Given the description of an element on the screen output the (x, y) to click on. 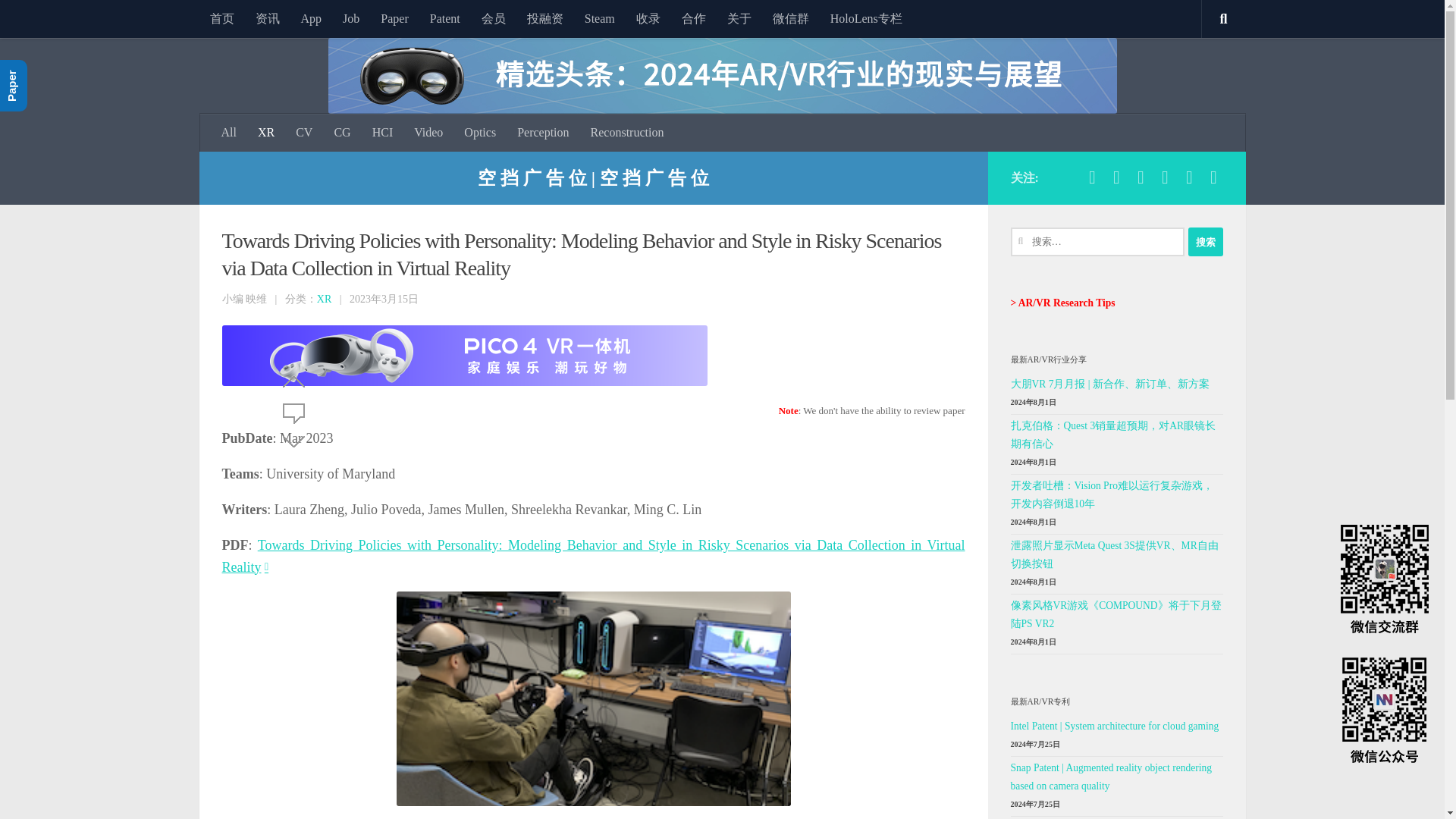
App (310, 18)
Perception (542, 132)
Optics (479, 132)
Steam (599, 18)
CG (342, 132)
Video (427, 132)
XR (324, 298)
Twitter (1115, 177)
Paper (394, 18)
All (229, 132)
Patent (444, 18)
Reconstruction (627, 132)
XR (266, 132)
HCI (382, 132)
